Given the description of an element on the screen output the (x, y) to click on. 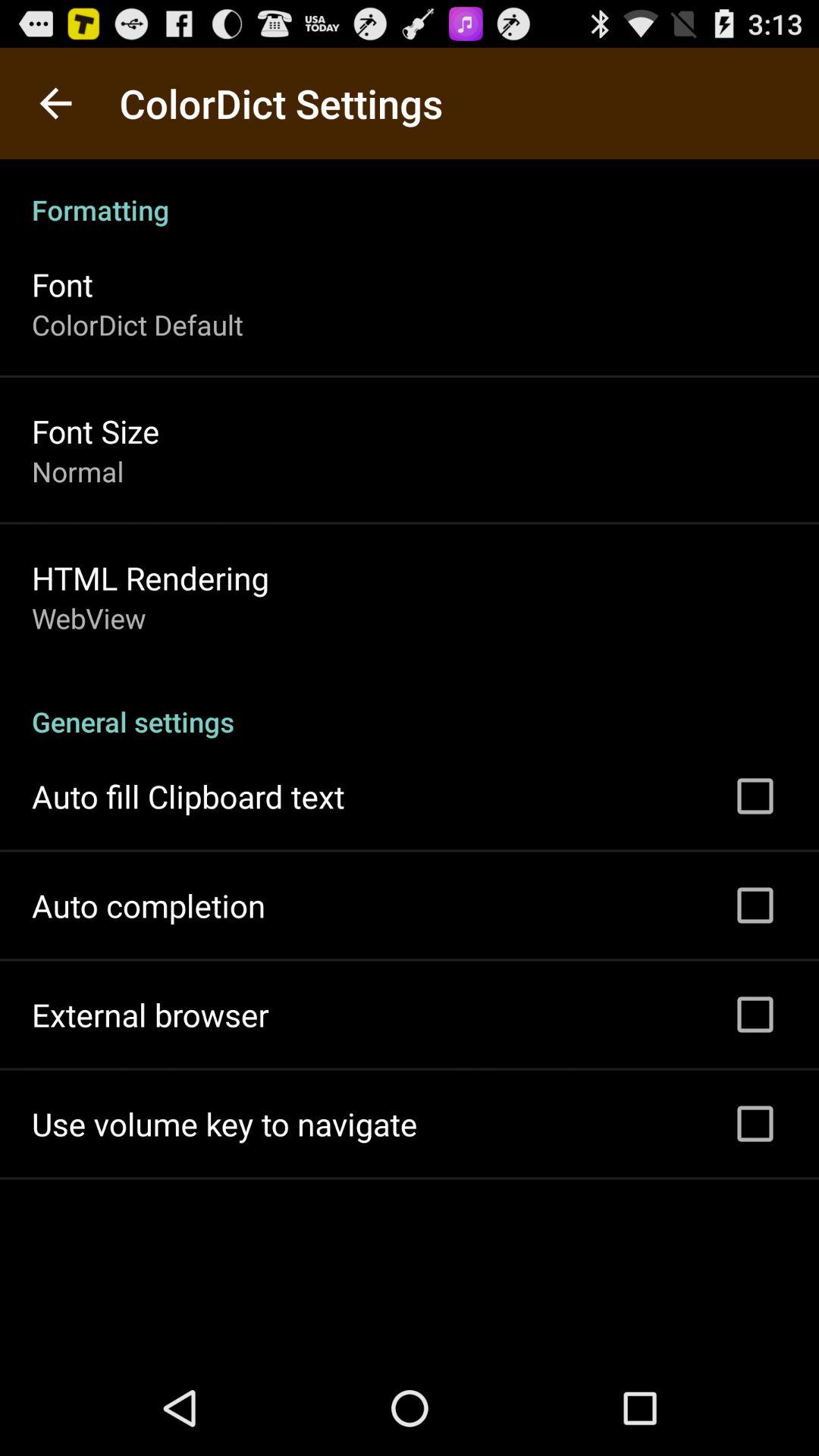
flip to the auto fill clipboard (187, 795)
